Given the description of an element on the screen output the (x, y) to click on. 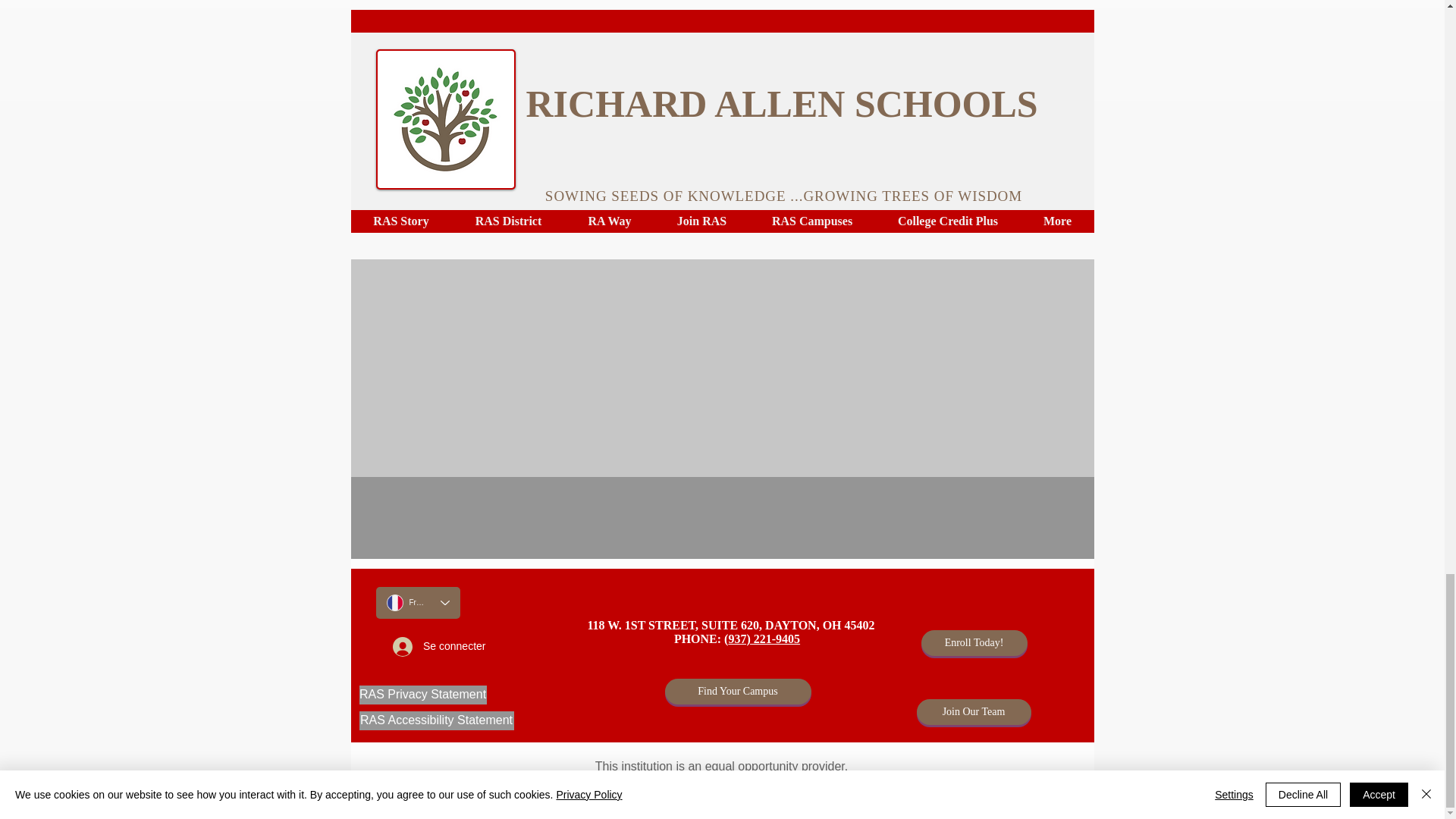
Se connecter (438, 646)
Enroll Today! (973, 642)
RAS Accessibility Statement (436, 720)
RAS Privacy Statement (422, 694)
